Given the description of an element on the screen output the (x, y) to click on. 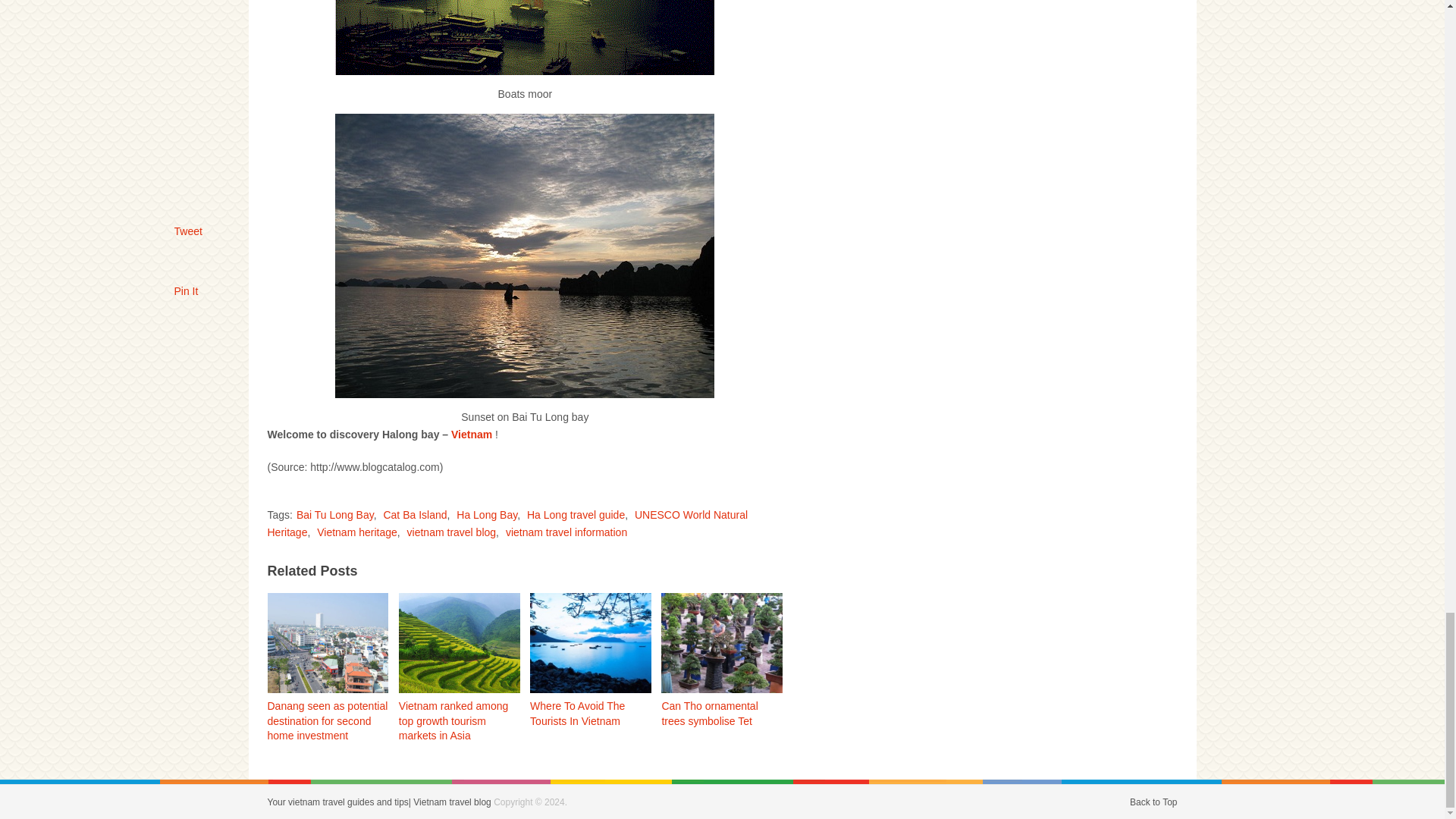
Vietnam (471, 434)
